Given the description of an element on the screen output the (x, y) to click on. 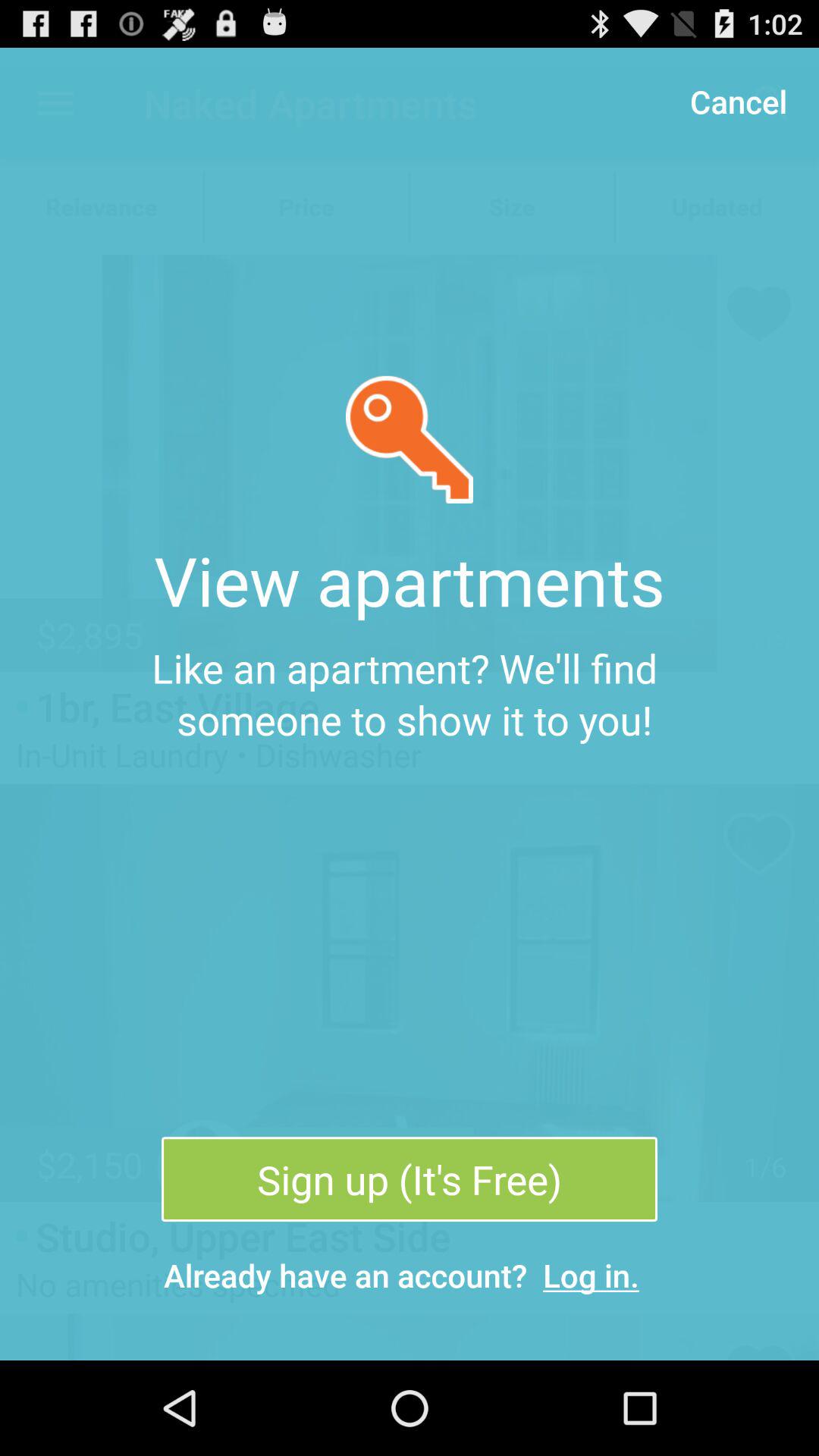
tap the item above the like an apartment item (738, 100)
